Given the description of an element on the screen output the (x, y) to click on. 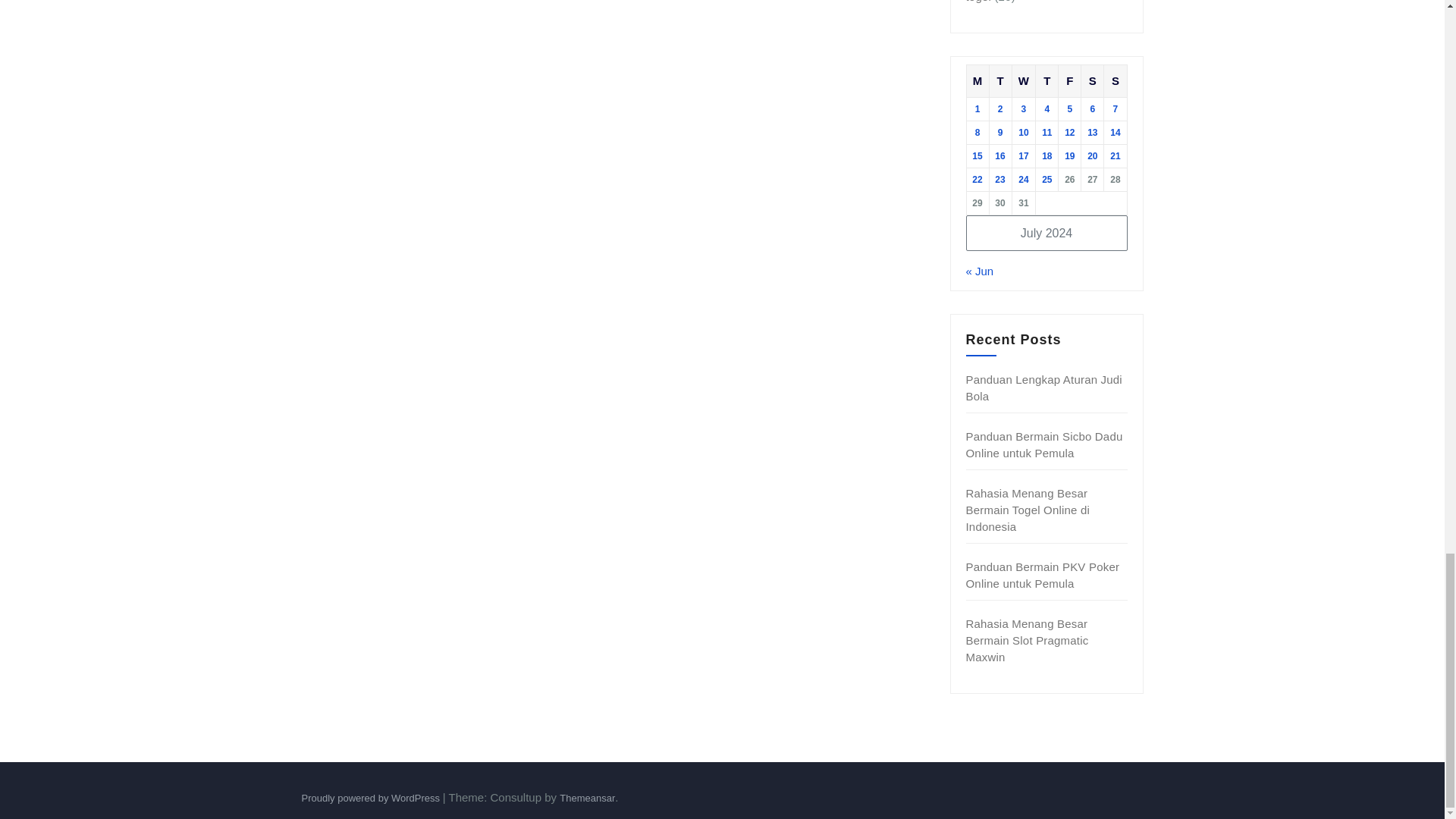
Friday (1069, 80)
3 (1024, 109)
2 (1000, 109)
Thursday (1046, 80)
1 (977, 109)
Saturday (1092, 80)
Wednesday (1023, 80)
Sunday (1114, 80)
togel (978, 1)
Monday (977, 80)
Tuesday (999, 80)
